Given the description of an element on the screen output the (x, y) to click on. 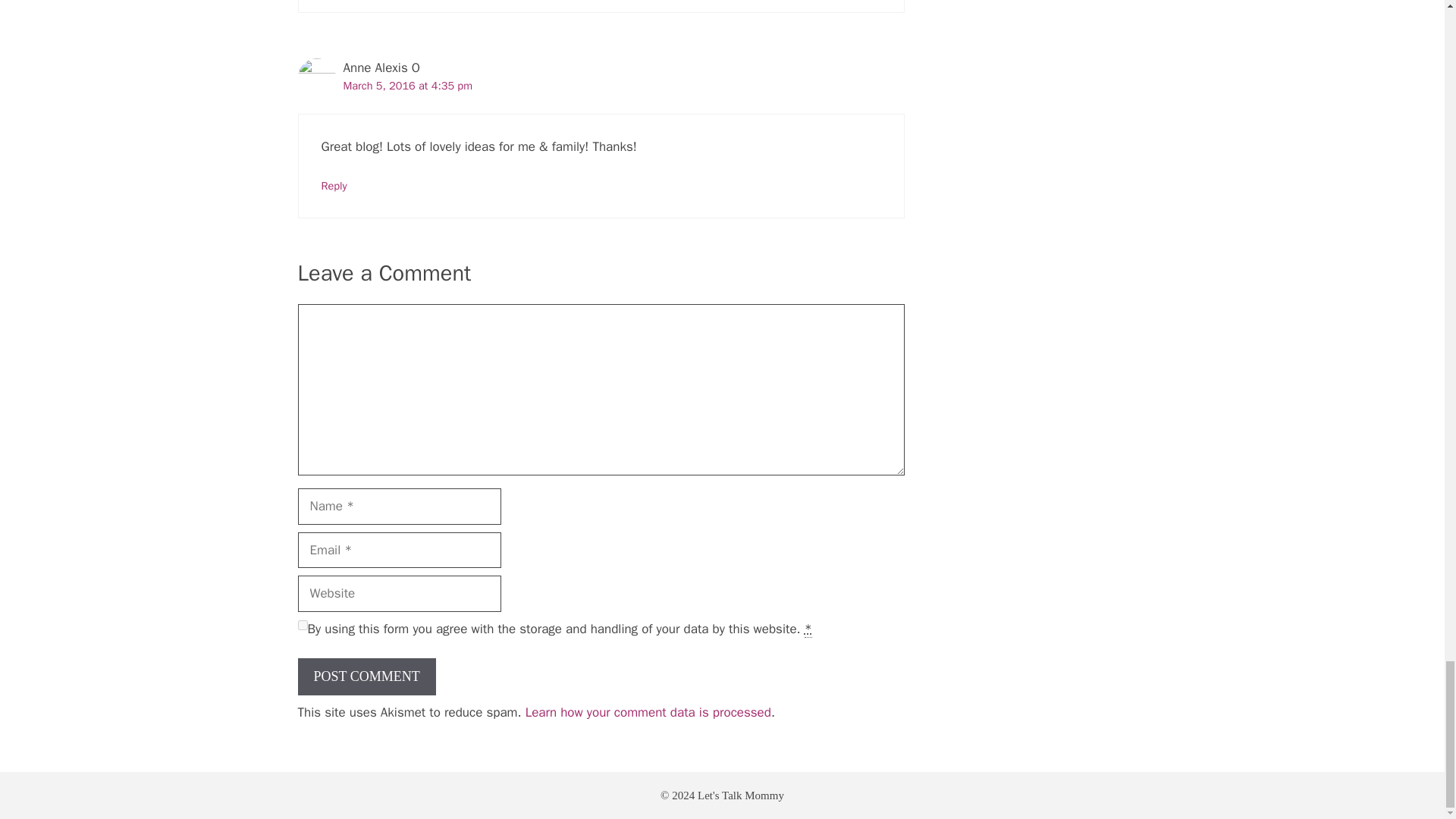
Post Comment (366, 676)
